Given the description of an element on the screen output the (x, y) to click on. 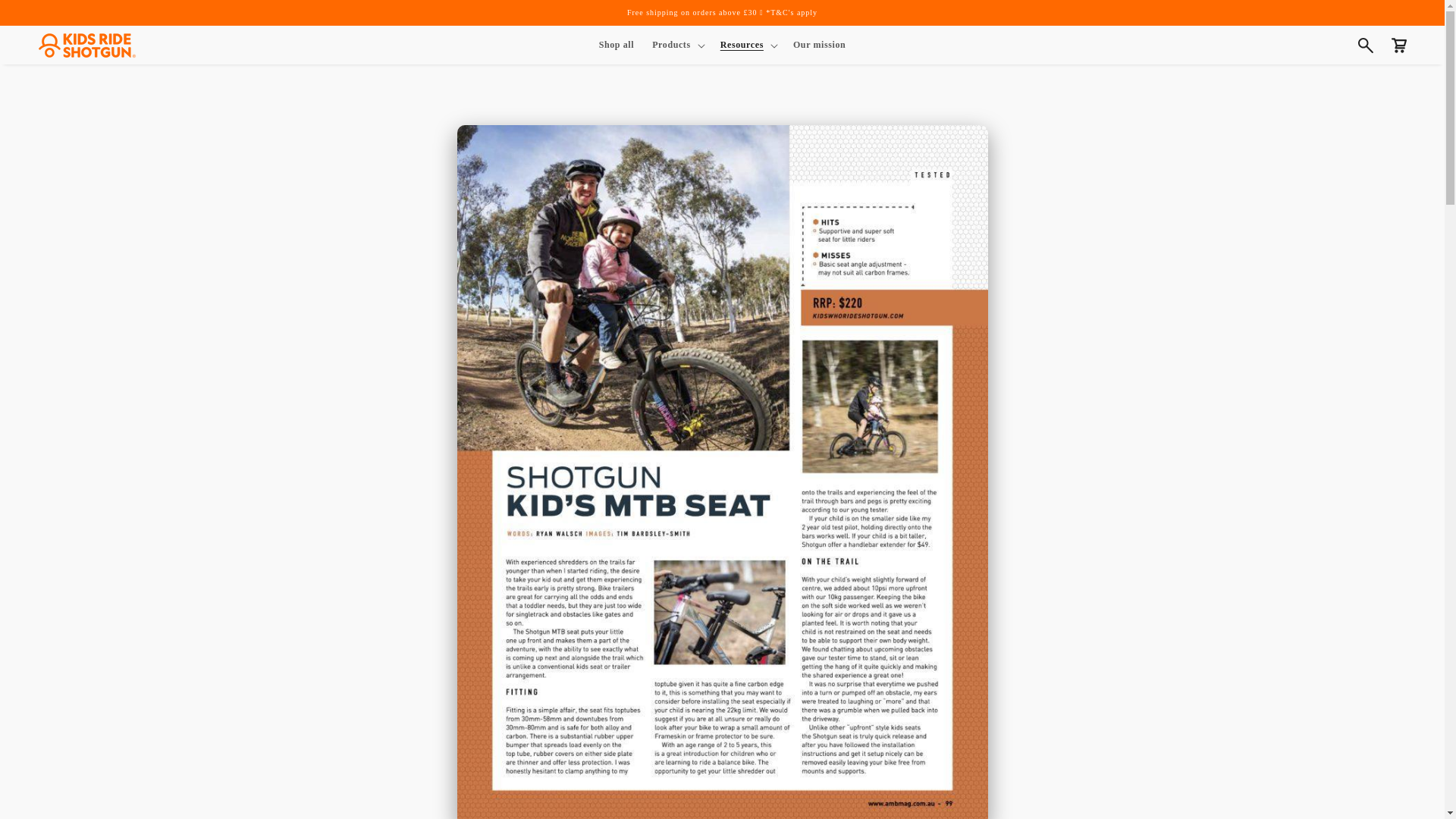
Cart (1398, 45)
Skip to content (45, 16)
Shop all (616, 44)
Our mission (819, 44)
